Given the description of an element on the screen output the (x, y) to click on. 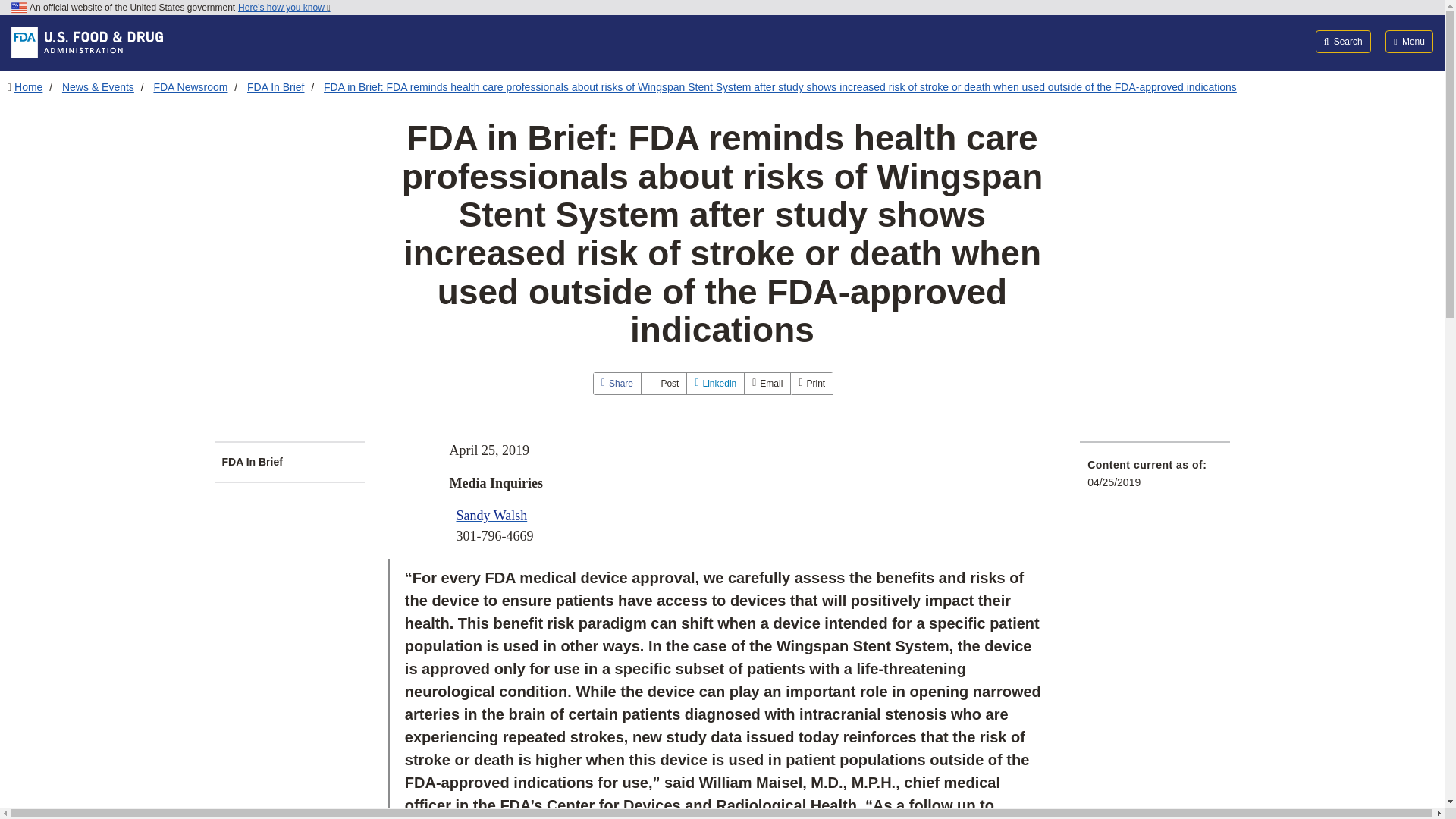
  Search (1343, 41)
  Menu (1409, 41)
Print this page (811, 383)
